Given the description of an element on the screen output the (x, y) to click on. 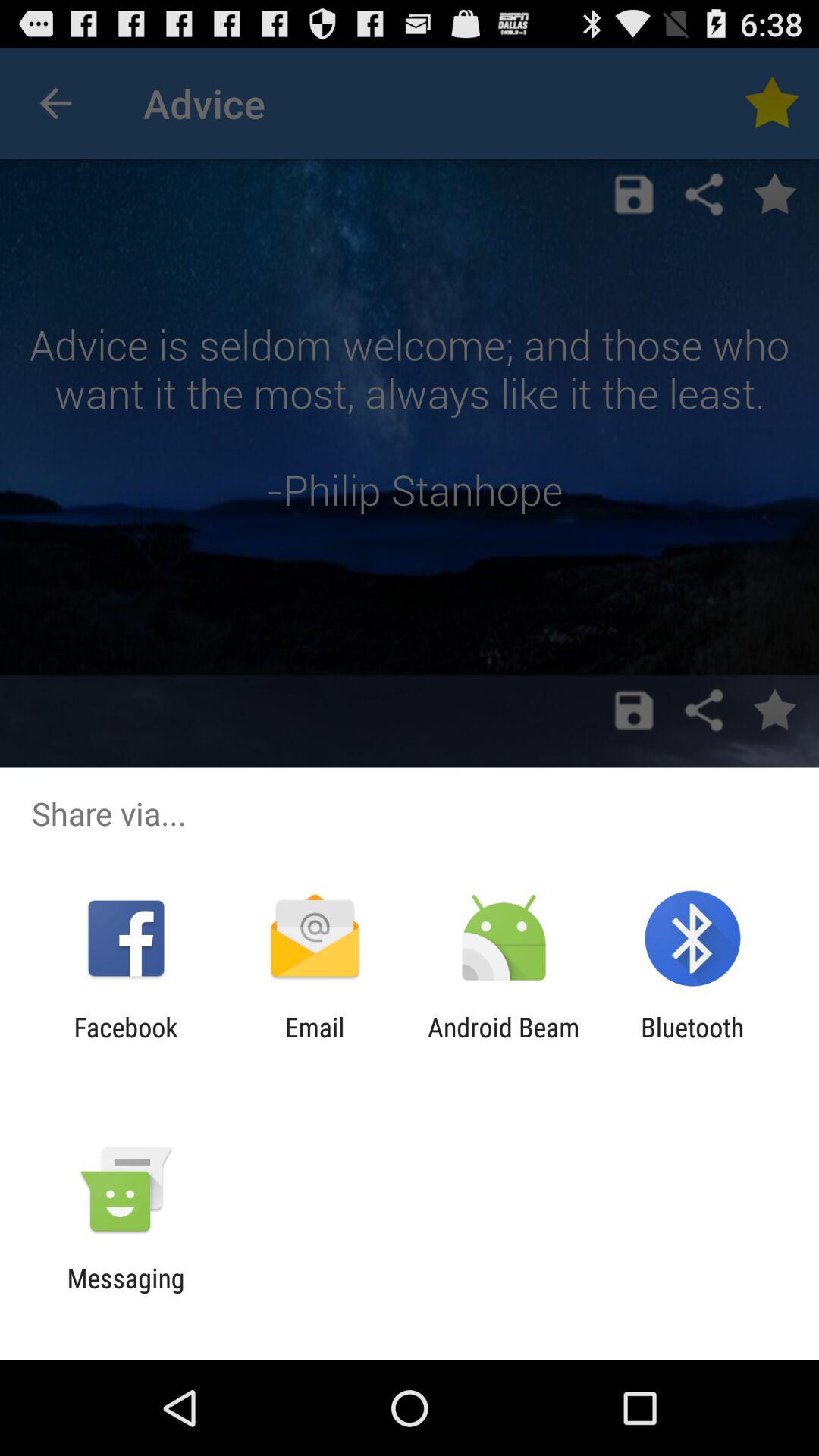
open the email item (314, 1042)
